Given the description of an element on the screen output the (x, y) to click on. 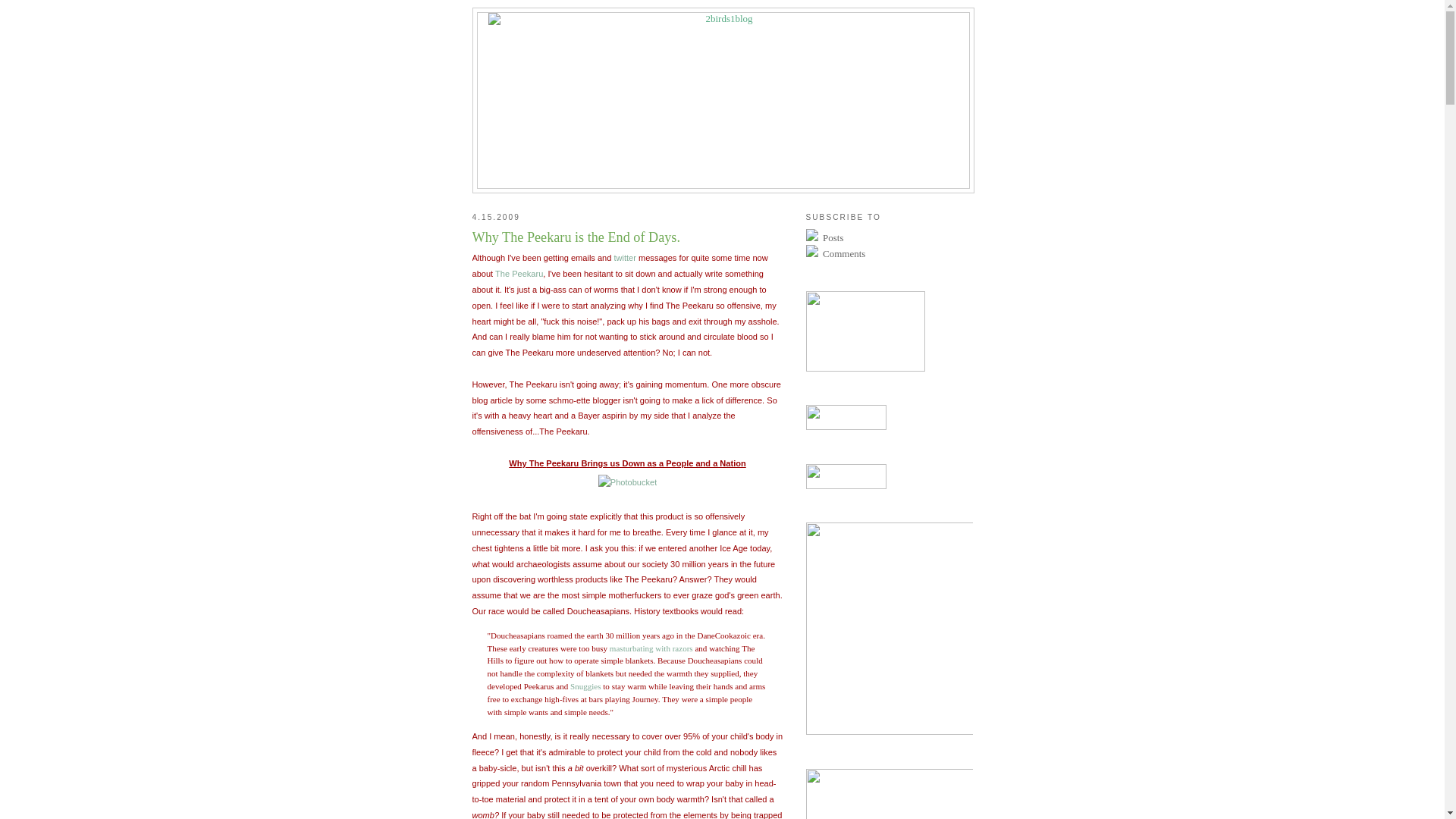
masturbating with razors Element type: text (651, 647)
Snuggies Element type: text (585, 685)
Why The Peekaru is the End of Days. Element type: text (626, 237)
Comments Element type: text (888, 252)
twitter Element type: text (624, 257)
Comments Element type: text (843, 253)
Posts Element type: text (888, 237)
The Peekaru Element type: text (518, 273)
Posts Element type: text (832, 237)
